Given the description of an element on the screen output the (x, y) to click on. 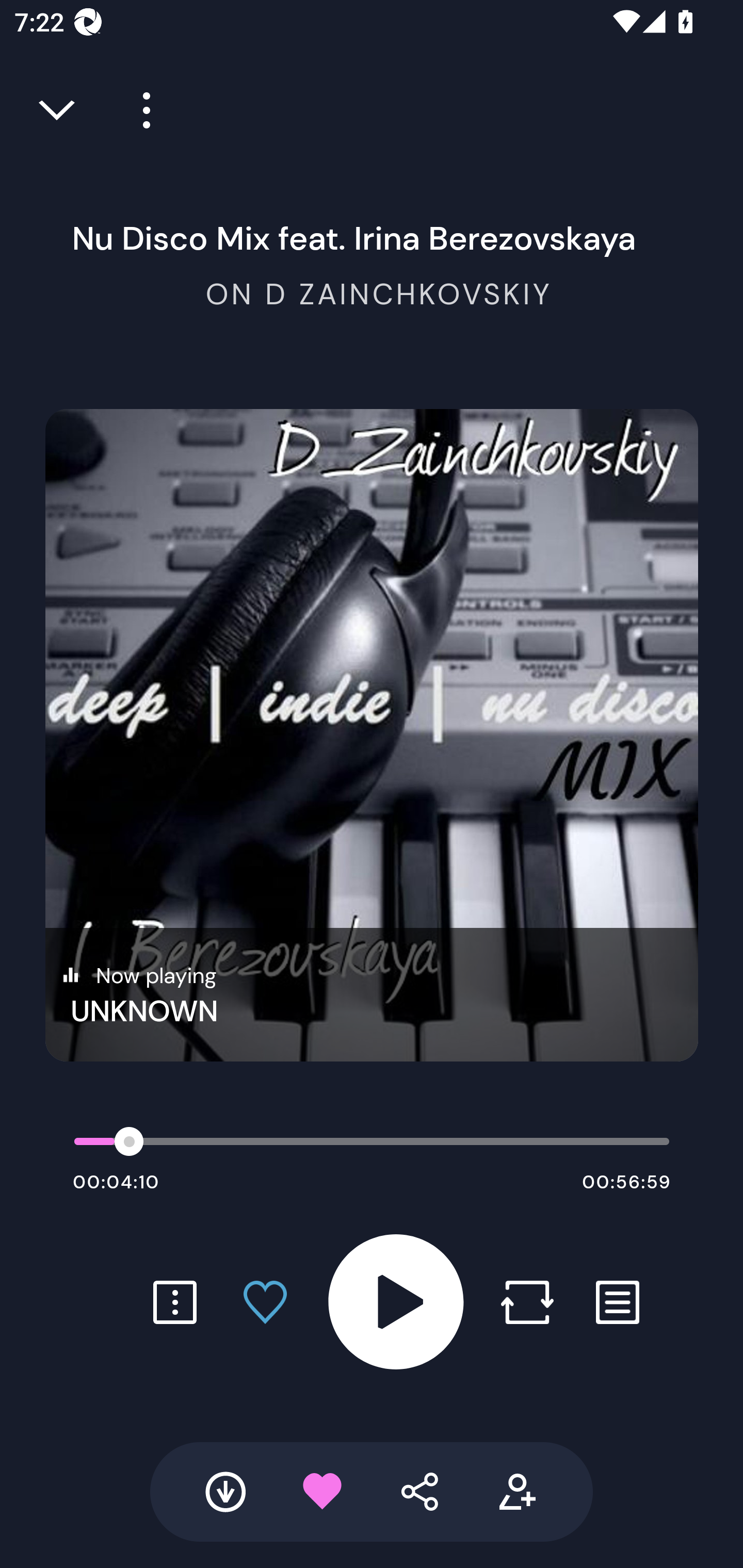
Close full player (58, 110)
Player more options button (139, 110)
Repost button (527, 1301)
